Given the description of an element on the screen output the (x, y) to click on. 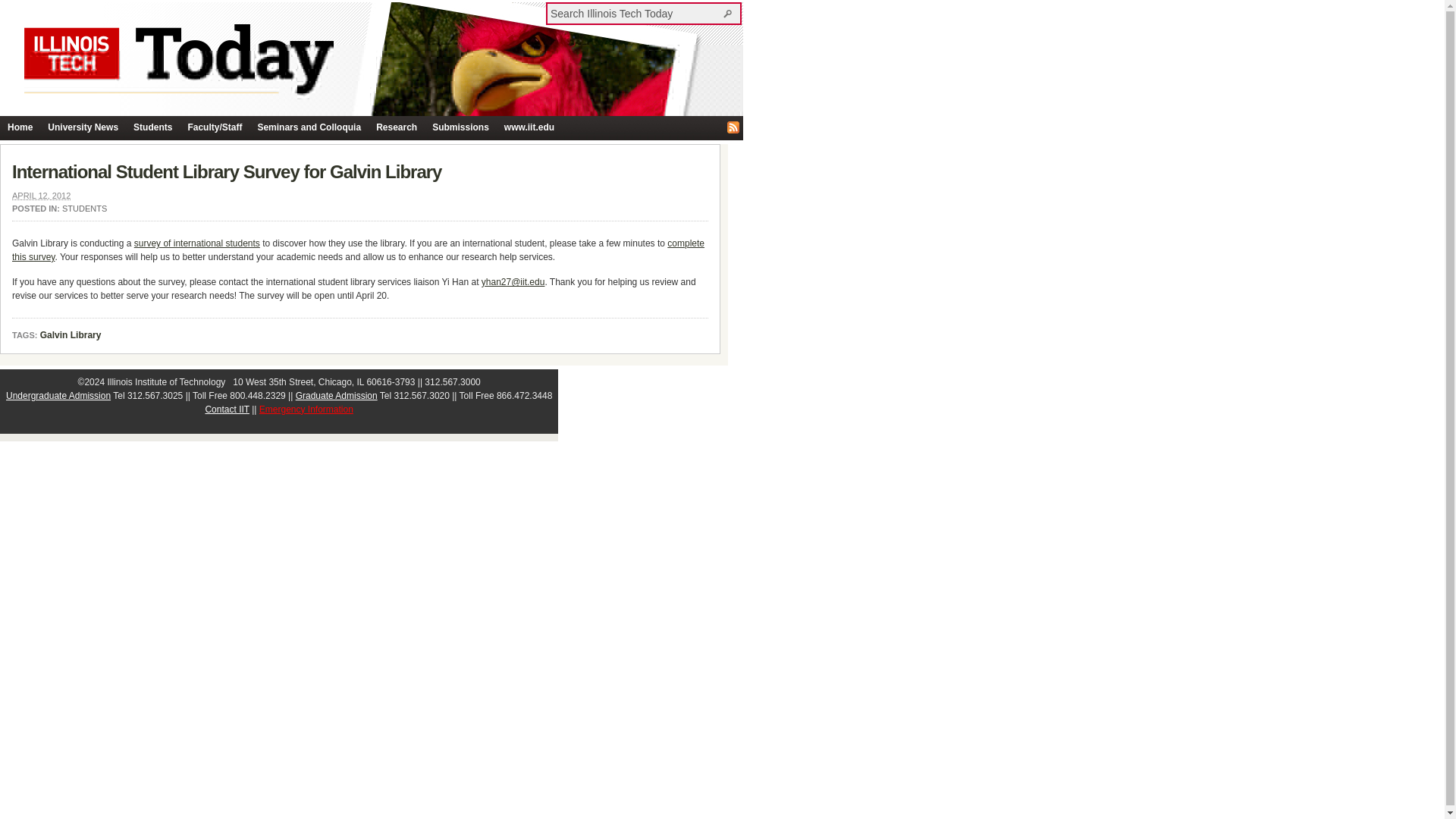
Graduate Admission (336, 395)
complete this survey (357, 250)
www.iit.edu (529, 127)
RSS Feed (732, 127)
Search Illinois Tech Today (636, 13)
Search (729, 13)
Search Illinois Tech Today (729, 13)
survey of international students (196, 243)
Undergraduate Admission (57, 395)
Galvin Library (70, 336)
